Given the description of an element on the screen output the (x, y) to click on. 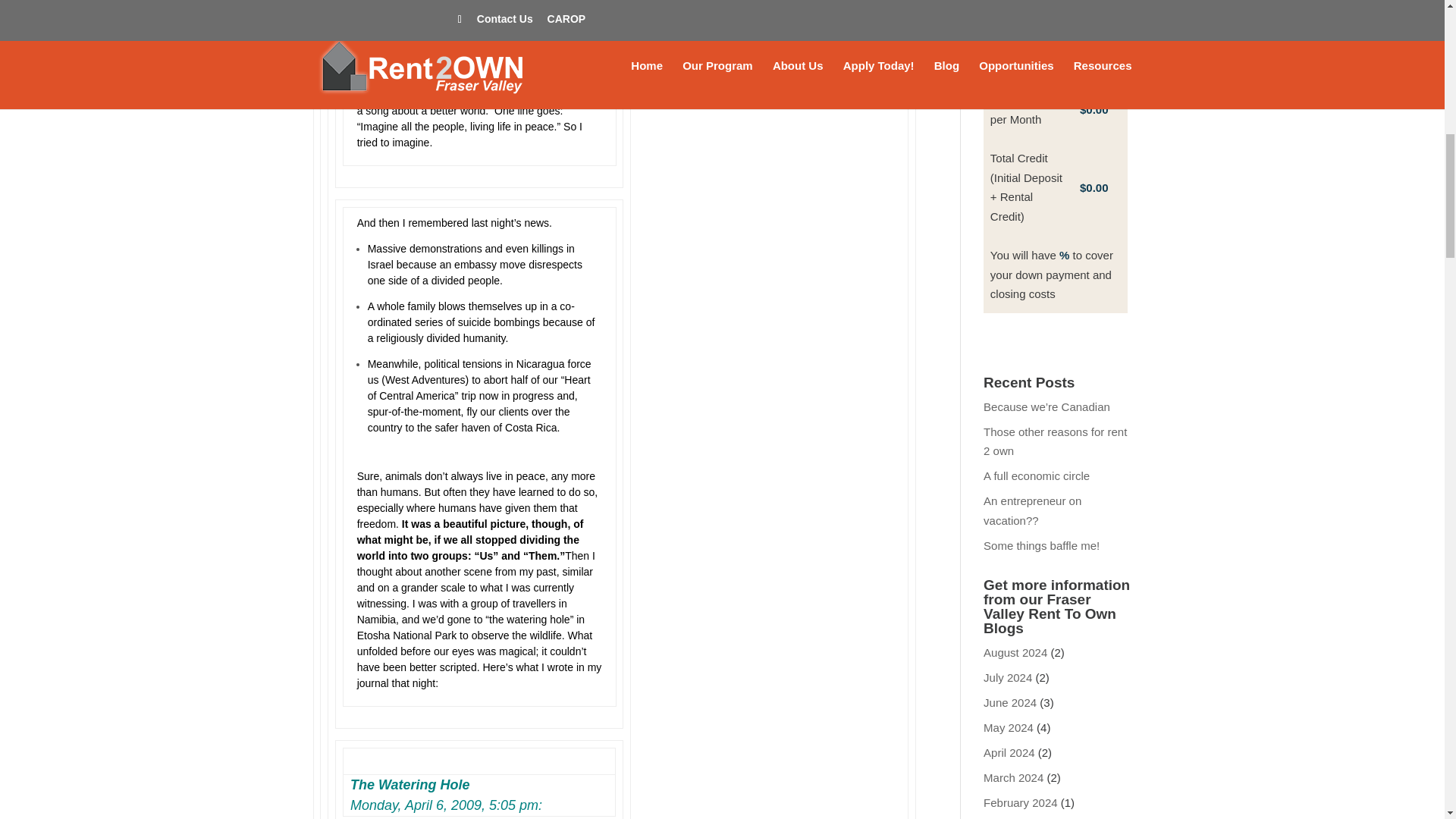
March 2024 (1013, 777)
Those other reasons for rent 2 own (1055, 441)
June 2024 (1010, 702)
April 2024 (1009, 752)
July 2024 (1008, 676)
An entrepreneur on vacation?? (1032, 510)
Some things baffle me! (1041, 545)
August 2024 (1015, 652)
May 2024 (1008, 727)
February 2024 (1021, 802)
